Given the description of an element on the screen output the (x, y) to click on. 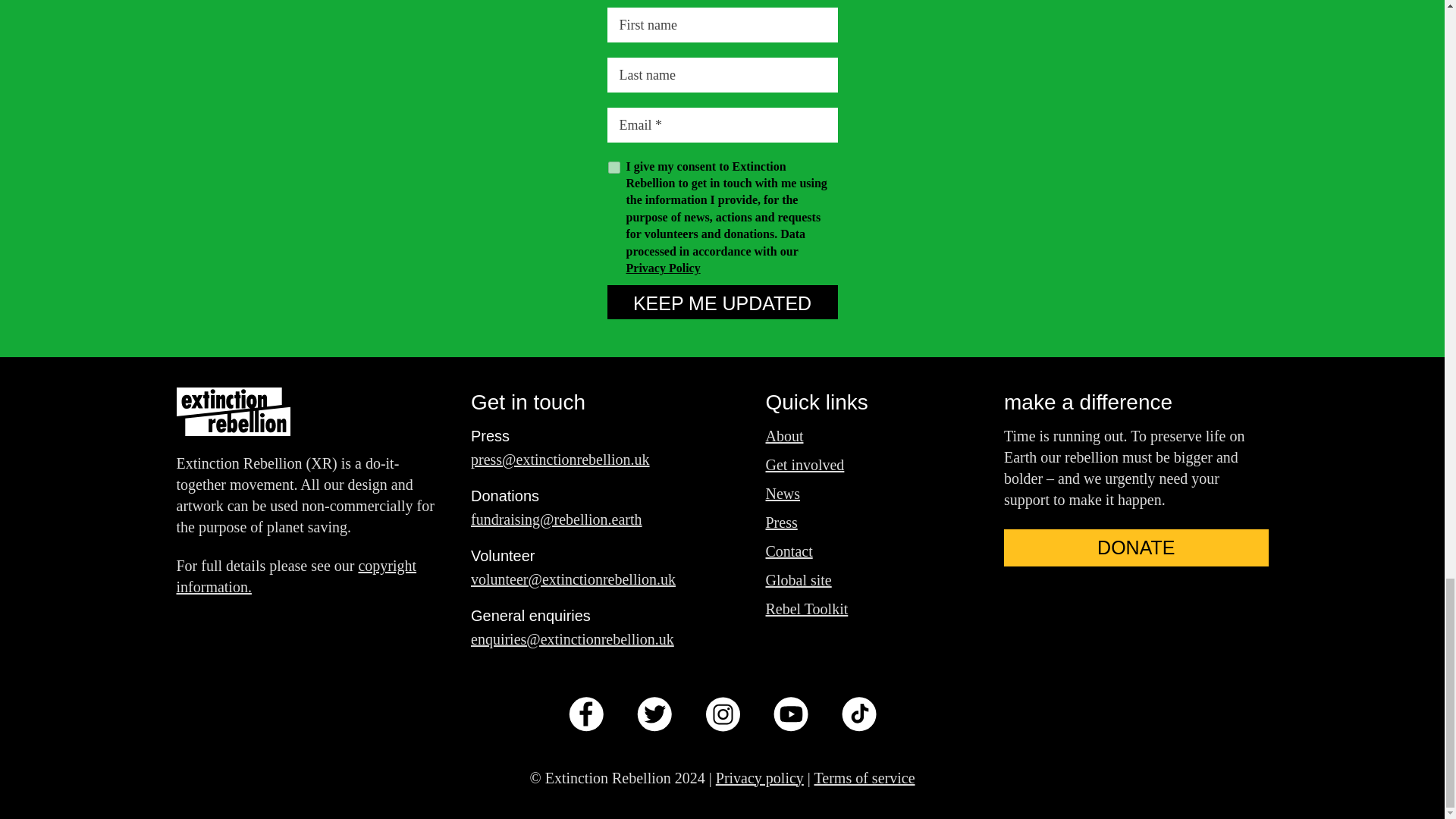
Keep me updated (722, 302)
Yes (614, 167)
